Given the description of an element on the screen output the (x, y) to click on. 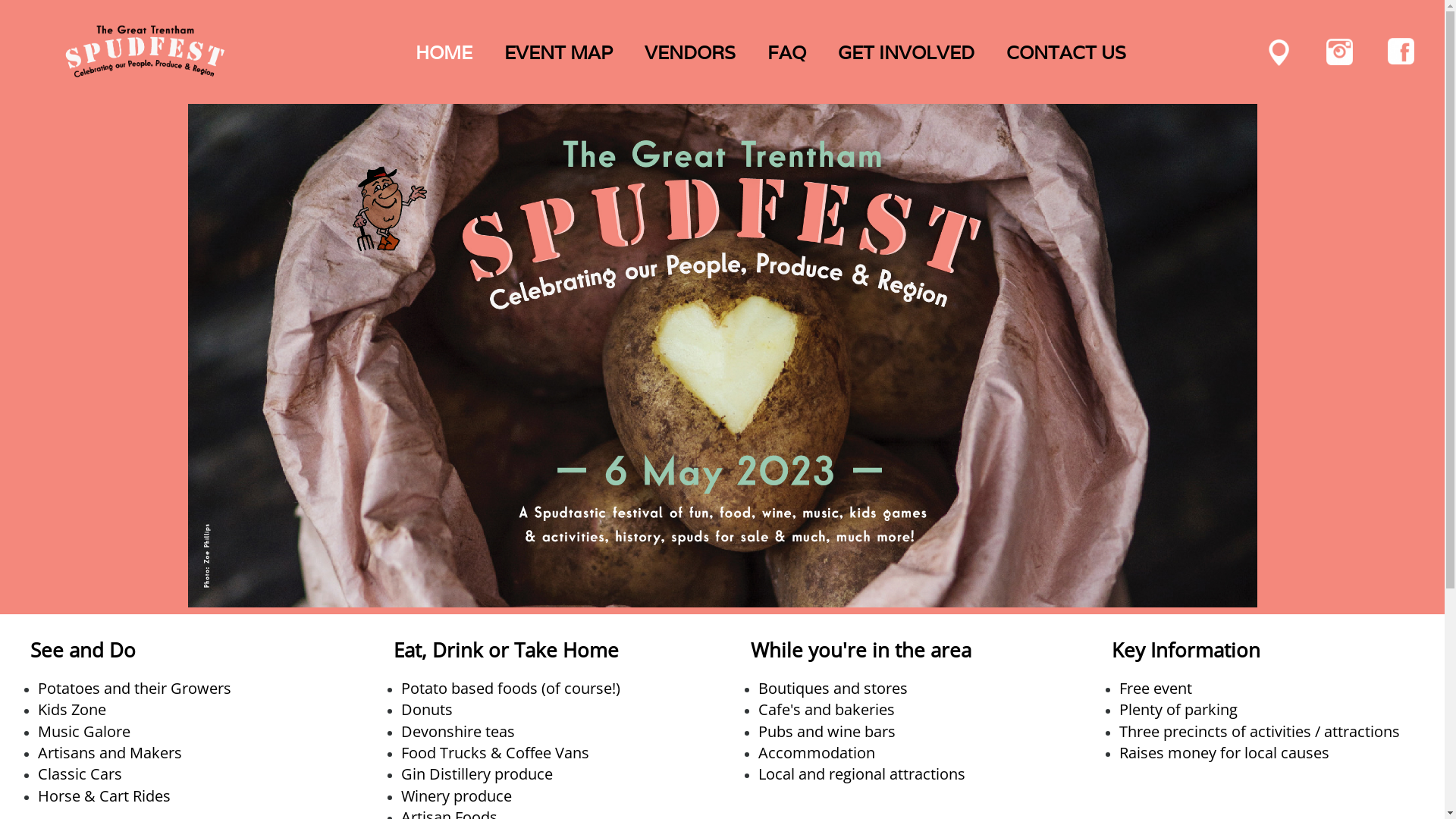
EVENT MAP Element type: text (559, 53)
FAQ Element type: text (787, 53)
GET INVOLVED Element type: text (907, 53)
CONTACT US Element type: text (1067, 53)
HOME Element type: text (445, 53)
VENDORS Element type: text (691, 53)
